Given the description of an element on the screen output the (x, y) to click on. 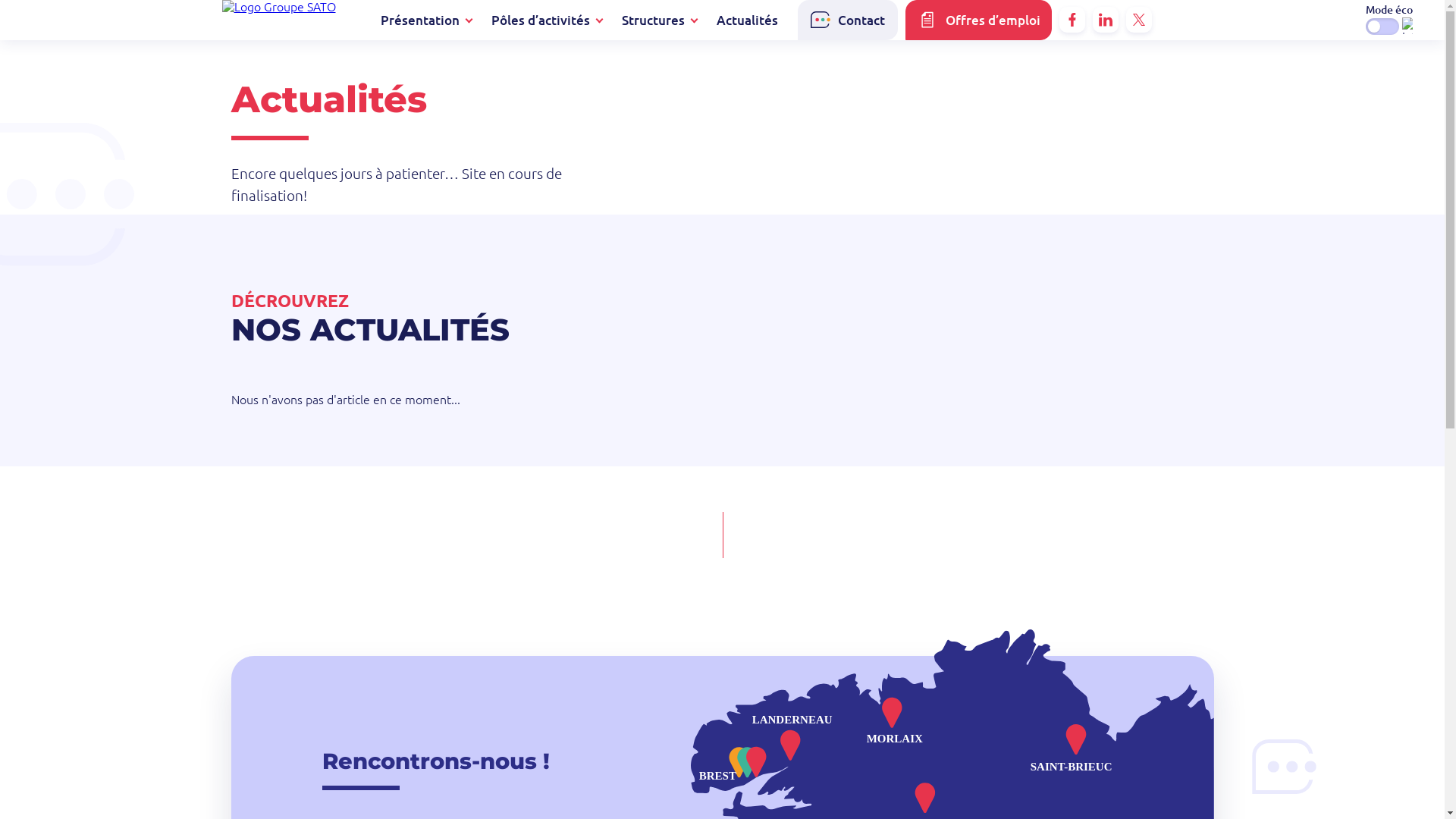
X Element type: text (1138, 19)
Structures Element type: text (652, 19)
Contact Element type: text (847, 20)
Facebook Element type: text (1072, 19)
Linkedin Element type: text (1105, 19)
